Given the description of an element on the screen output the (x, y) to click on. 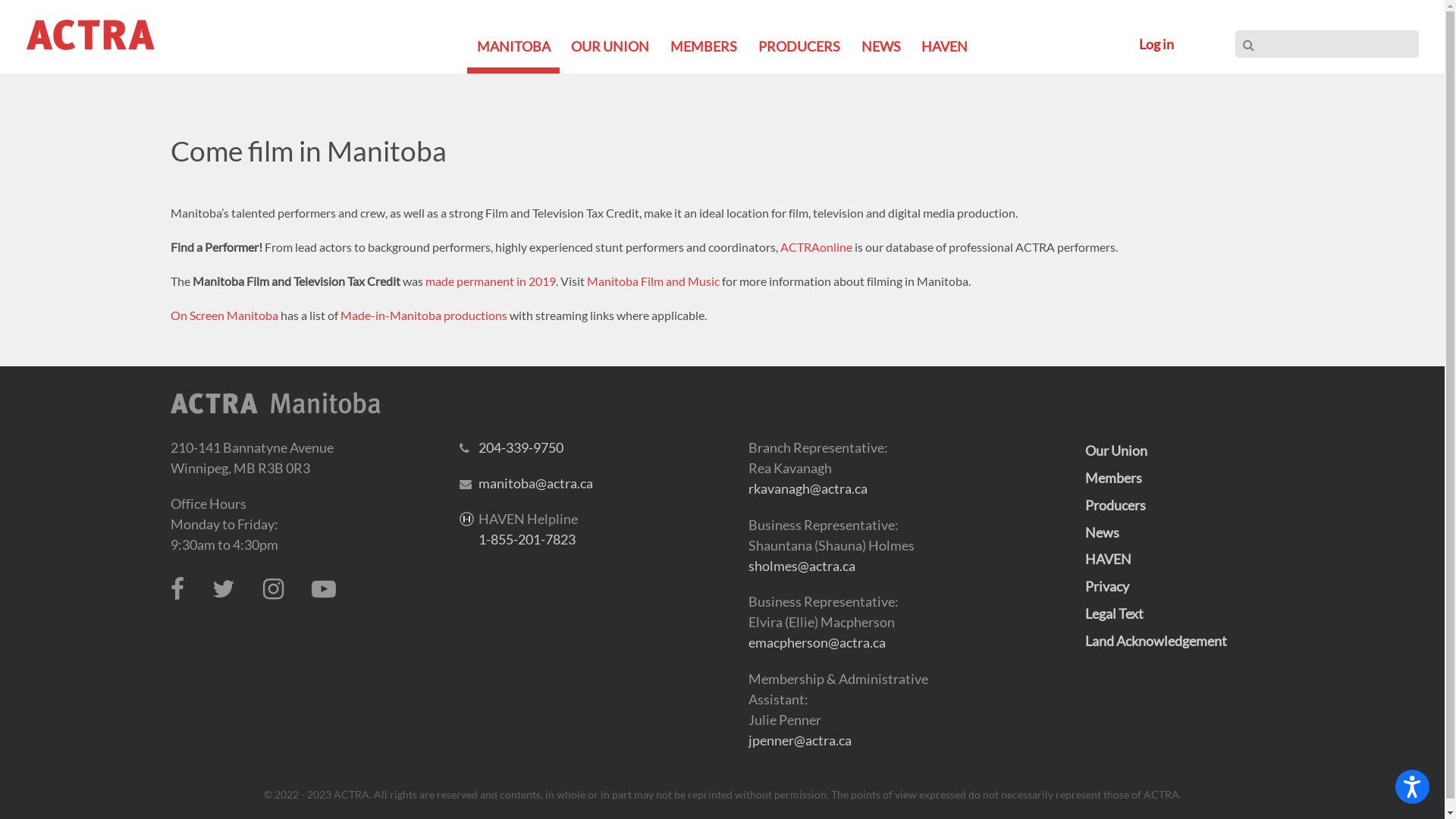
manitoba@actra.ca Element type: text (534, 482)
Land Acknowledgement Element type: text (1155, 640)
made permanent in 2019 Element type: text (489, 280)
204-339-9750 Element type: text (519, 447)
Made-in-Manitoba productions Element type: text (422, 314)
Manitoba Film and Music Element type: text (652, 280)
sholmes@actra.ca Element type: text (800, 565)
HAVEN Element type: text (1107, 558)
emacpherson@actra.ca Element type: text (815, 641)
Our Union Element type: text (1115, 450)
Legal Text Element type: text (1113, 613)
Privacy Element type: text (1106, 585)
Log in Element type: text (1156, 43)
rkavanagh@actra.ca Element type: text (806, 488)
jpenner@actra.ca Element type: text (798, 739)
1-855-201-7823 Element type: text (525, 538)
Producers Element type: text (1114, 504)
On Screen Manitoba Element type: text (223, 314)
HAVEN Element type: text (944, 46)
Members Element type: text (1112, 477)
News Element type: text (1101, 532)
ACTRAonline Element type: text (815, 246)
